Given the description of an element on the screen output the (x, y) to click on. 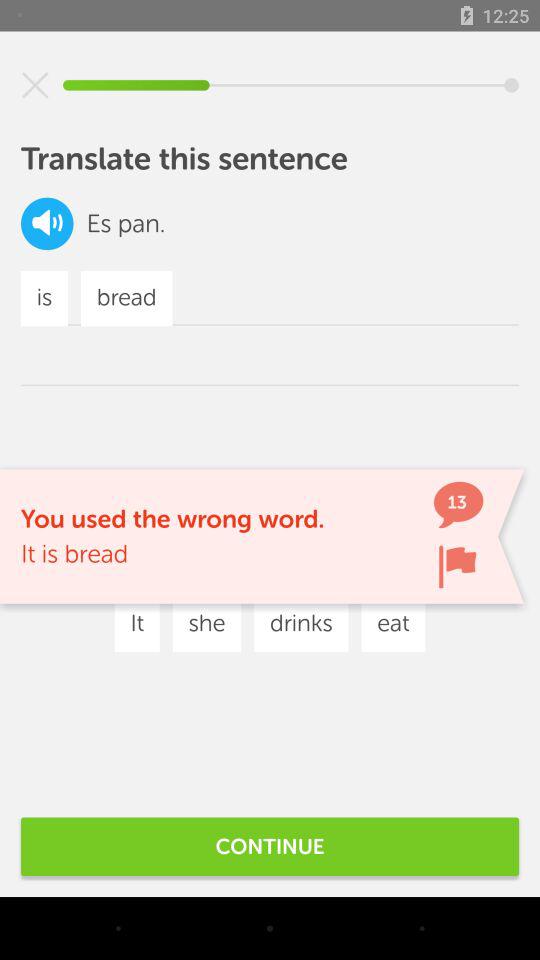
report error (457, 566)
